Given the description of an element on the screen output the (x, y) to click on. 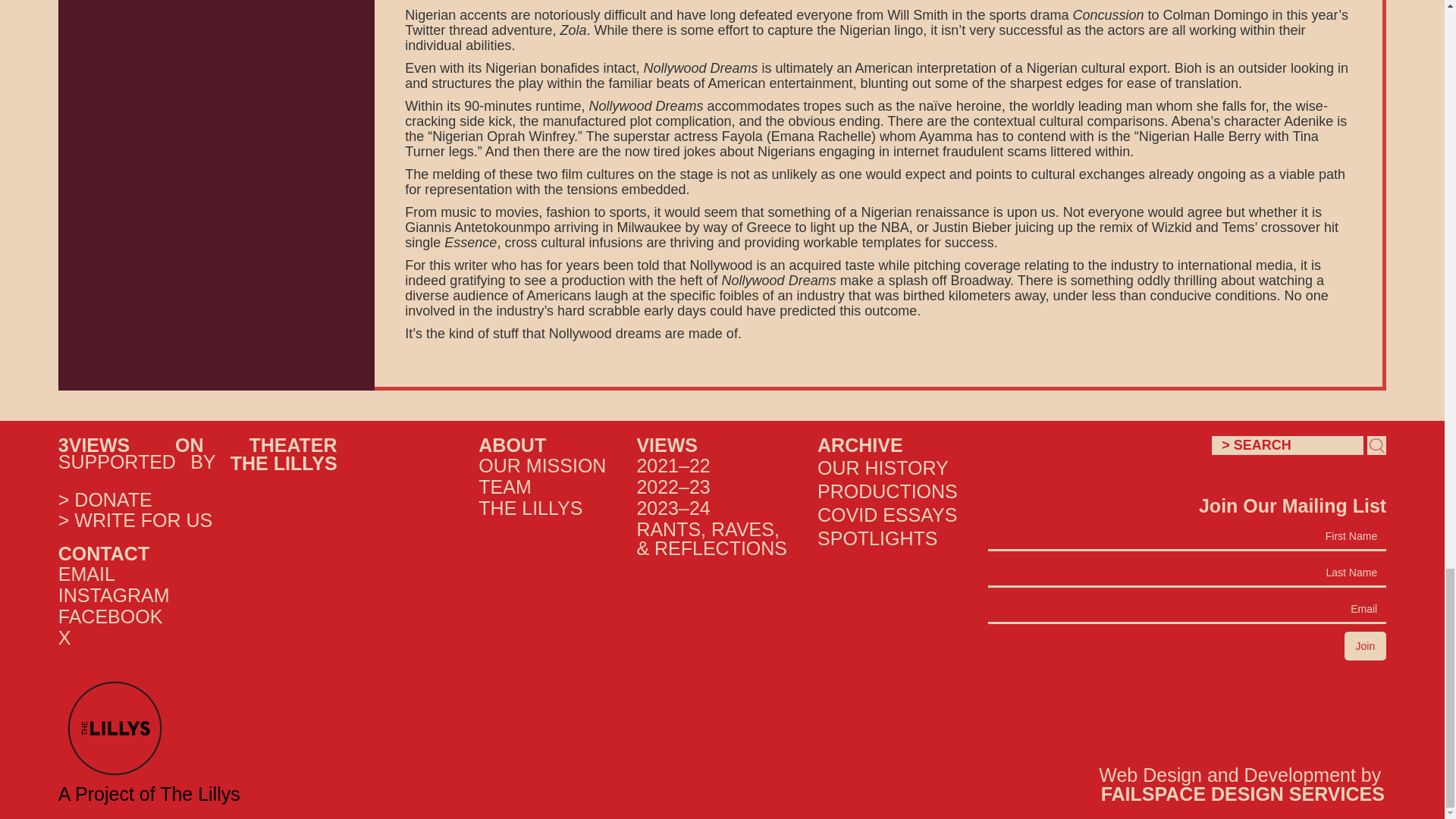
OUR HISTORY (887, 466)
Join (1365, 645)
THE LILLYS (283, 463)
PRODUCTIONS (887, 490)
TEAM (505, 486)
INSTAGRAM (114, 595)
Join (1365, 645)
EMAIL (86, 573)
FACEBOOK (110, 616)
COVID ESSAYS (887, 513)
